Given the description of an element on the screen output the (x, y) to click on. 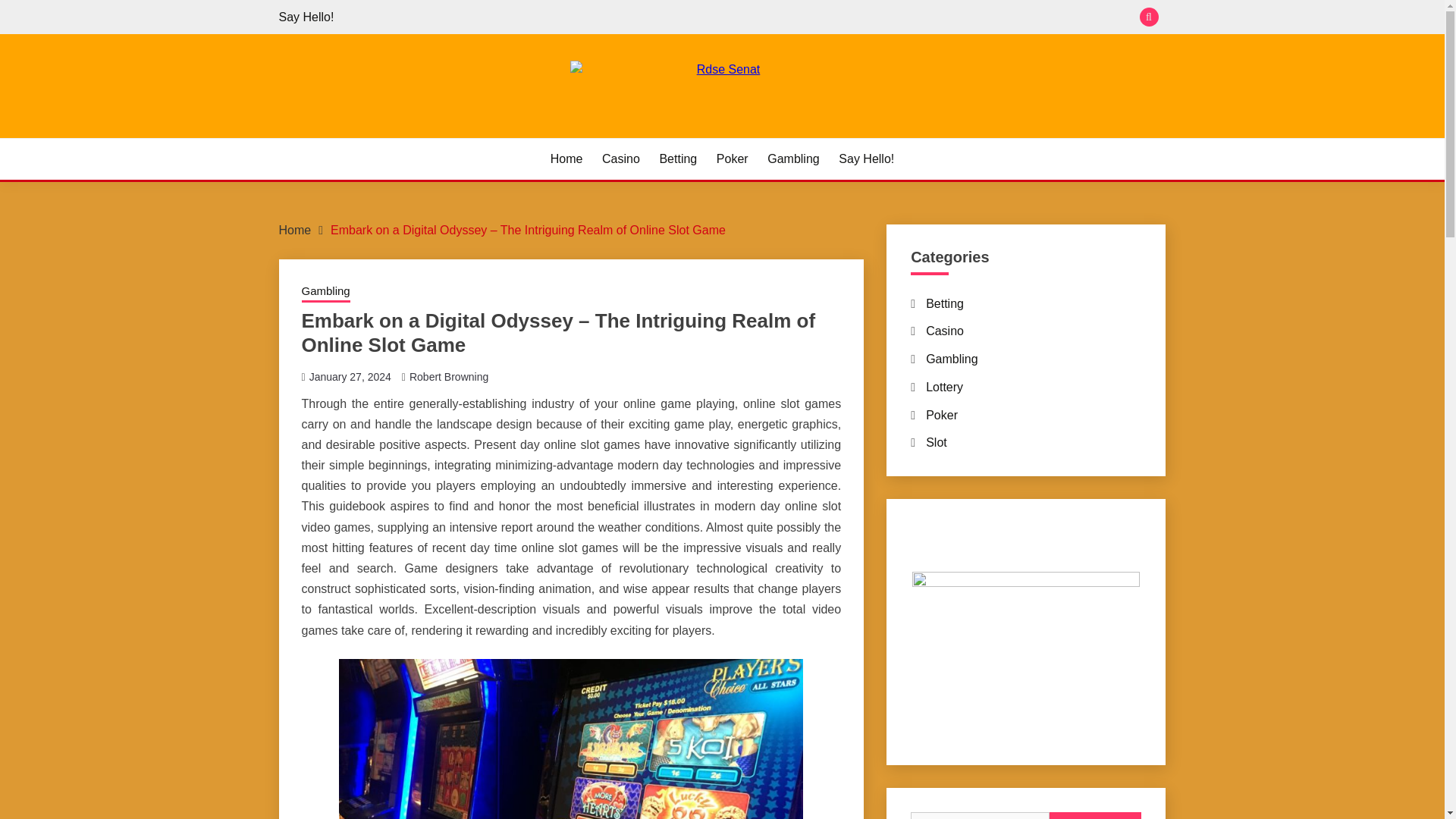
Betting (678, 158)
Gambling (951, 358)
Say Hello! (306, 16)
Lottery (944, 386)
Gambling (325, 292)
Search (1095, 815)
Search (1095, 815)
RDSE SENAT (368, 135)
Say Hello! (865, 158)
January 27, 2024 (349, 376)
Gambling (792, 158)
Casino (621, 158)
Search (1095, 815)
Home (566, 158)
Slot (936, 441)
